Given the description of an element on the screen output the (x, y) to click on. 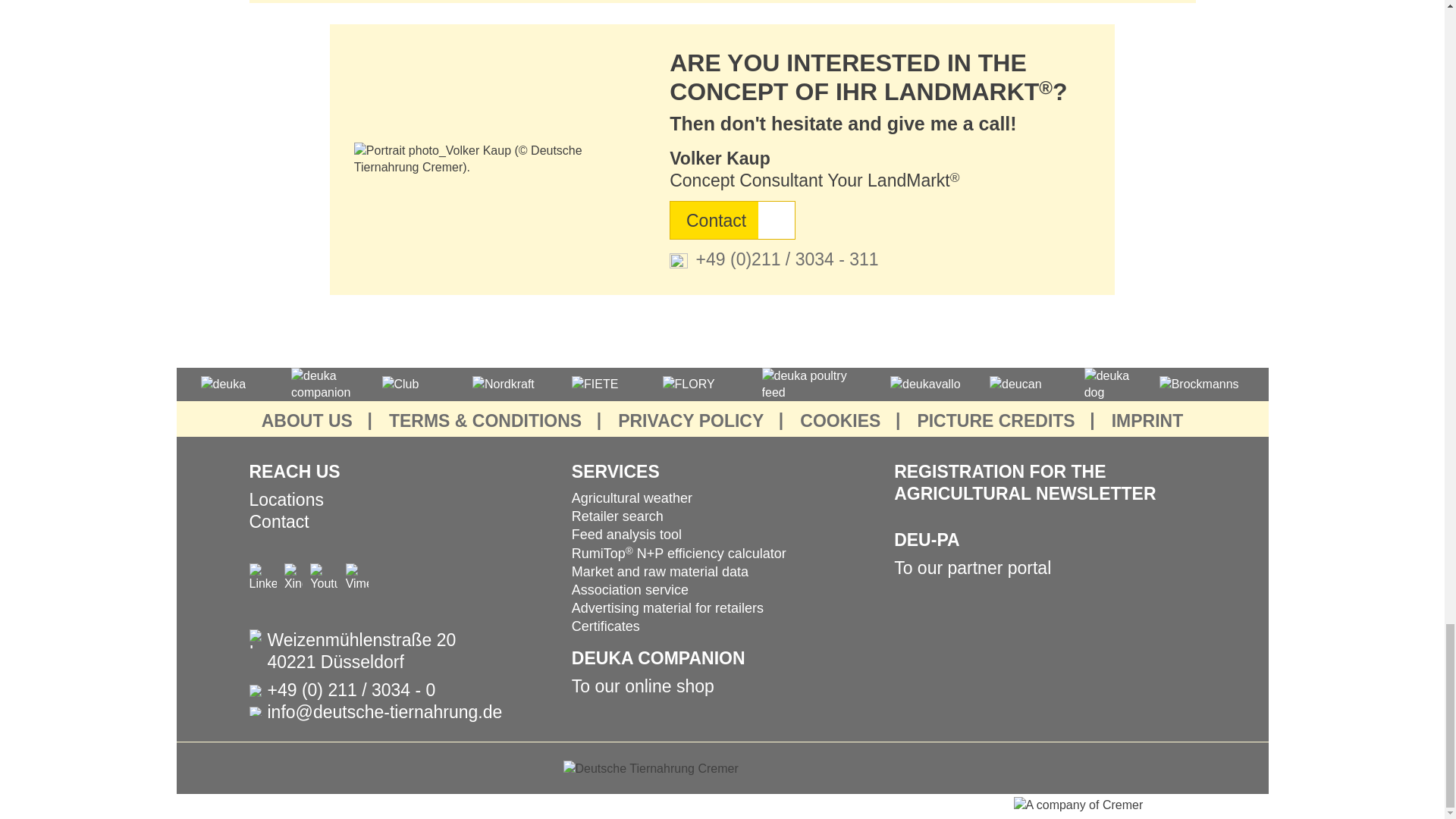
Contact (278, 521)
ABOUT US (307, 421)
PRIVACY POLICY (690, 421)
Contact (731, 219)
COOKIES (839, 421)
Locations (285, 499)
PICTURE CREDITS (995, 421)
IMPRINT (1147, 421)
